Given the description of an element on the screen output the (x, y) to click on. 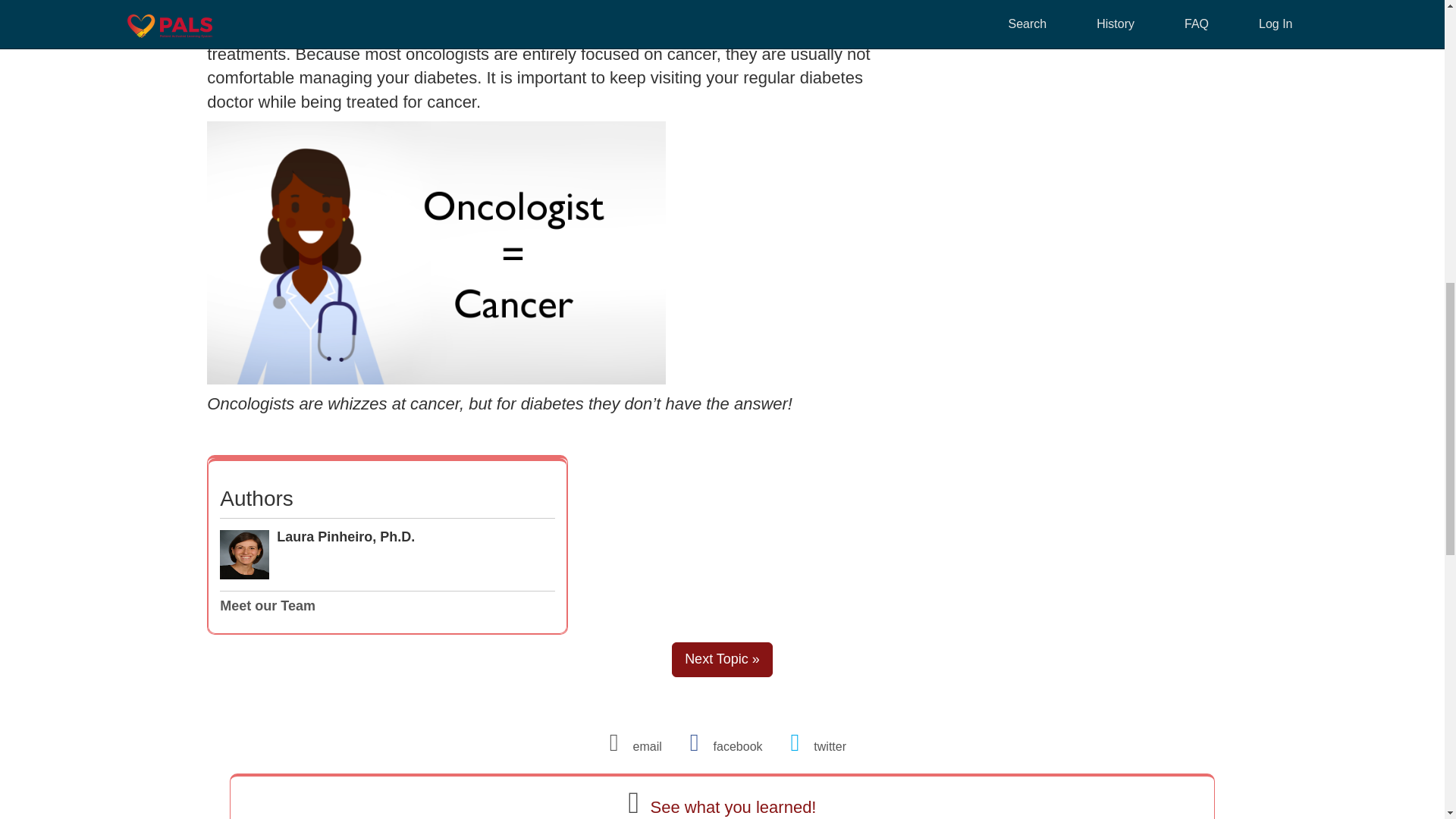
twitter (811, 746)
facebook (721, 746)
email (631, 746)
Meet our Team (267, 605)
